Given the description of an element on the screen output the (x, y) to click on. 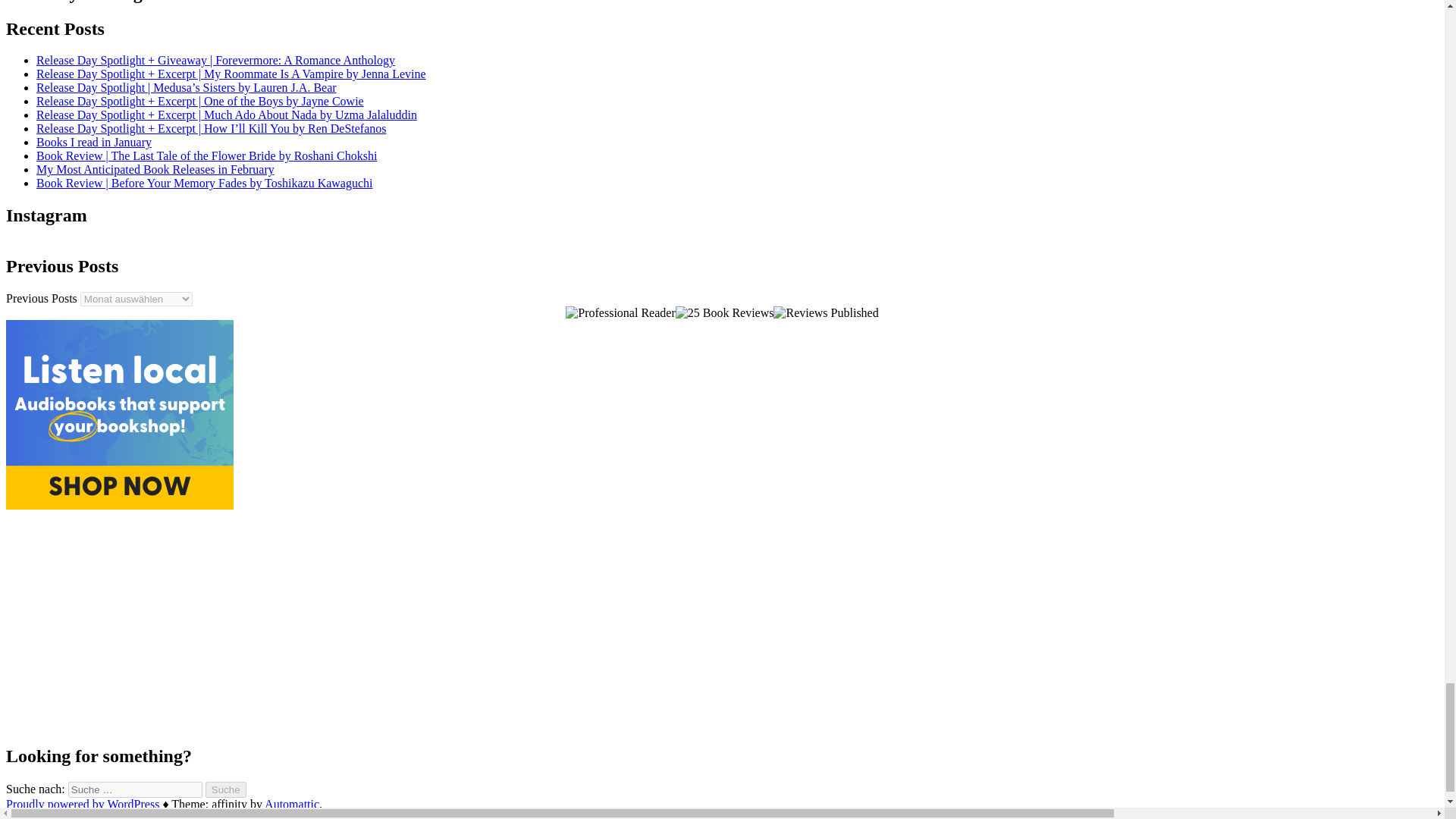
Suche (225, 789)
25 Book Reviews (724, 313)
Reviews Published (825, 313)
Suche (225, 789)
Professional Reader (620, 313)
